Given the description of an element on the screen output the (x, y) to click on. 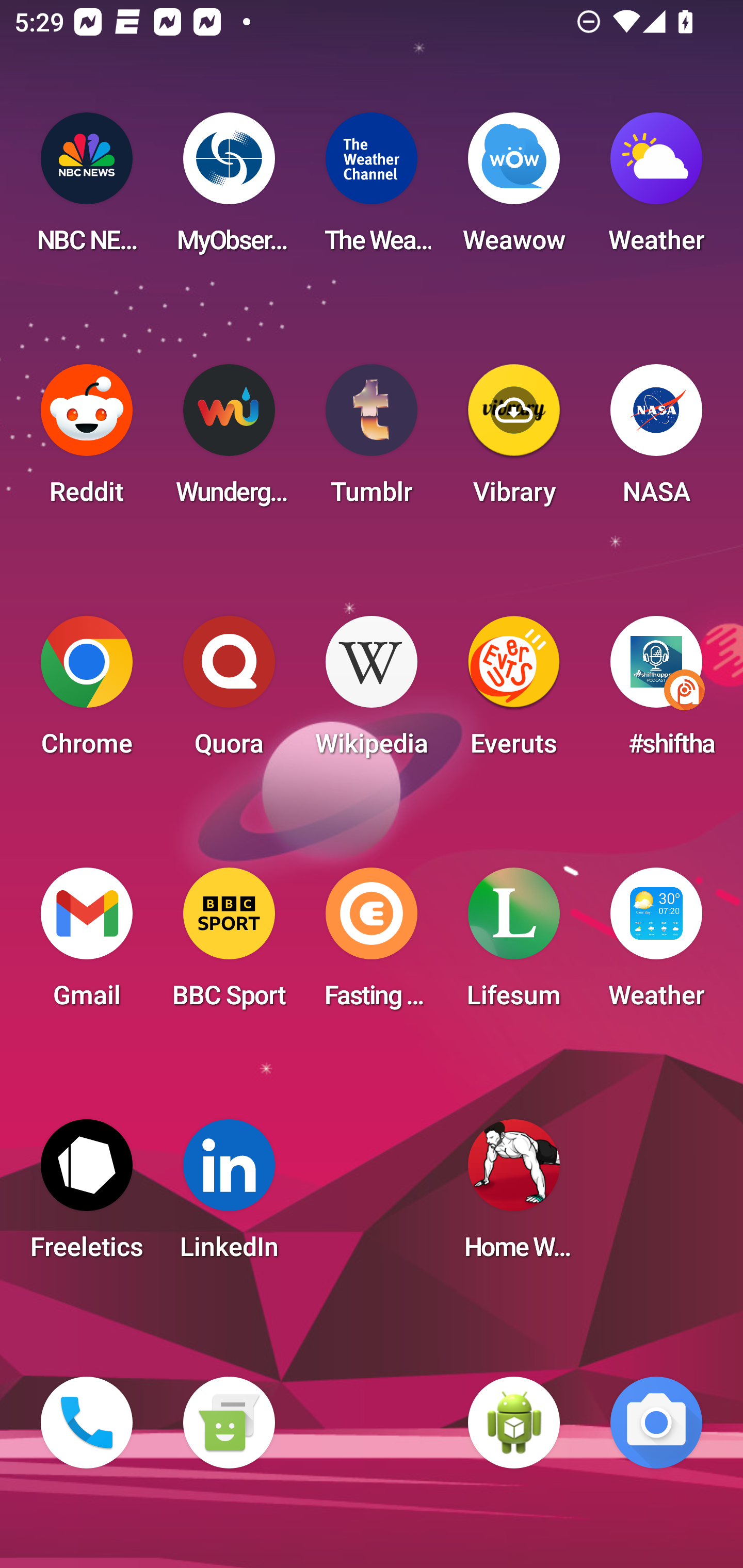
NBC NEWS (86, 188)
MyObservatory (228, 188)
The Weather Channel (371, 188)
Weawow (513, 188)
Weather (656, 188)
Reddit (86, 440)
Wunderground (228, 440)
Tumblr (371, 440)
Vibrary (513, 440)
NASA (656, 440)
Chrome (86, 692)
Quora (228, 692)
Wikipedia (371, 692)
Everuts (513, 692)
#shifthappens in the Digital Workplace Podcast (656, 692)
Gmail (86, 943)
BBC Sport (228, 943)
Fasting Coach (371, 943)
Lifesum (513, 943)
Weather (656, 943)
Freeletics (86, 1195)
LinkedIn (228, 1195)
Home Workout (513, 1195)
Phone (86, 1422)
Messaging (228, 1422)
WebView Browser Tester (513, 1422)
Camera (656, 1422)
